Given the description of an element on the screen output the (x, y) to click on. 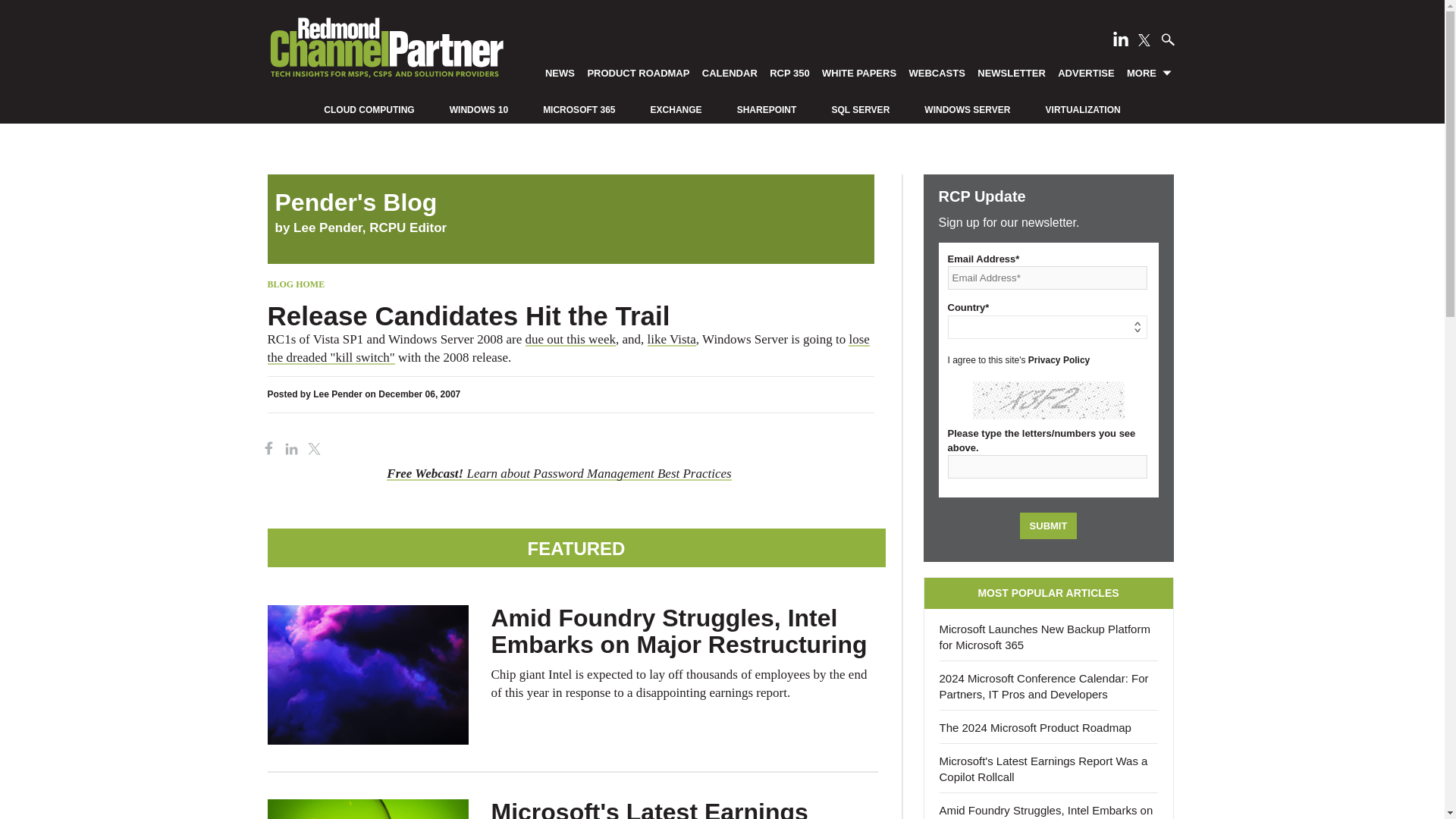
like Vista (671, 339)
PRODUCT ROADMAP (638, 72)
lose the dreaded "kill switch" (567, 348)
SHAREPOINT (766, 109)
WHITE PAPERS (858, 72)
WEBCASTS (936, 72)
NEWSLETTER (1011, 72)
EXCHANGE (675, 109)
SQL SERVER (860, 109)
MICROSOFT 365 (578, 109)
ADVERTISE (1085, 72)
CLOUD COMPUTING (368, 109)
MORE (1149, 72)
WINDOWS 10 (478, 109)
RCP 350 (790, 72)
